Given the description of an element on the screen output the (x, y) to click on. 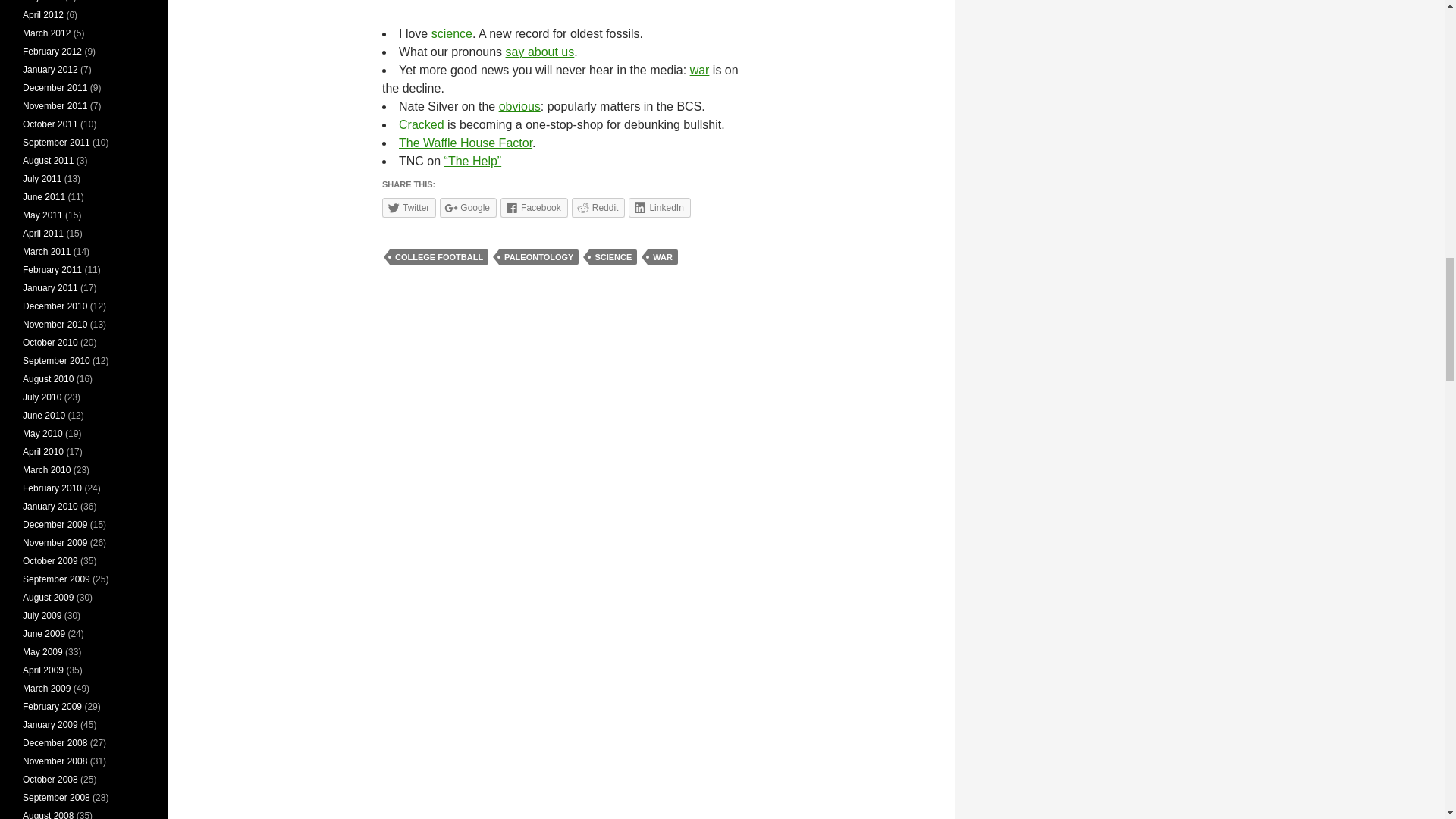
Click to share on Reddit (599, 207)
Click to share on Facebook (533, 207)
Click to share on LinkedIn (659, 207)
Click to share on Twitter (408, 207)
